Given the description of an element on the screen output the (x, y) to click on. 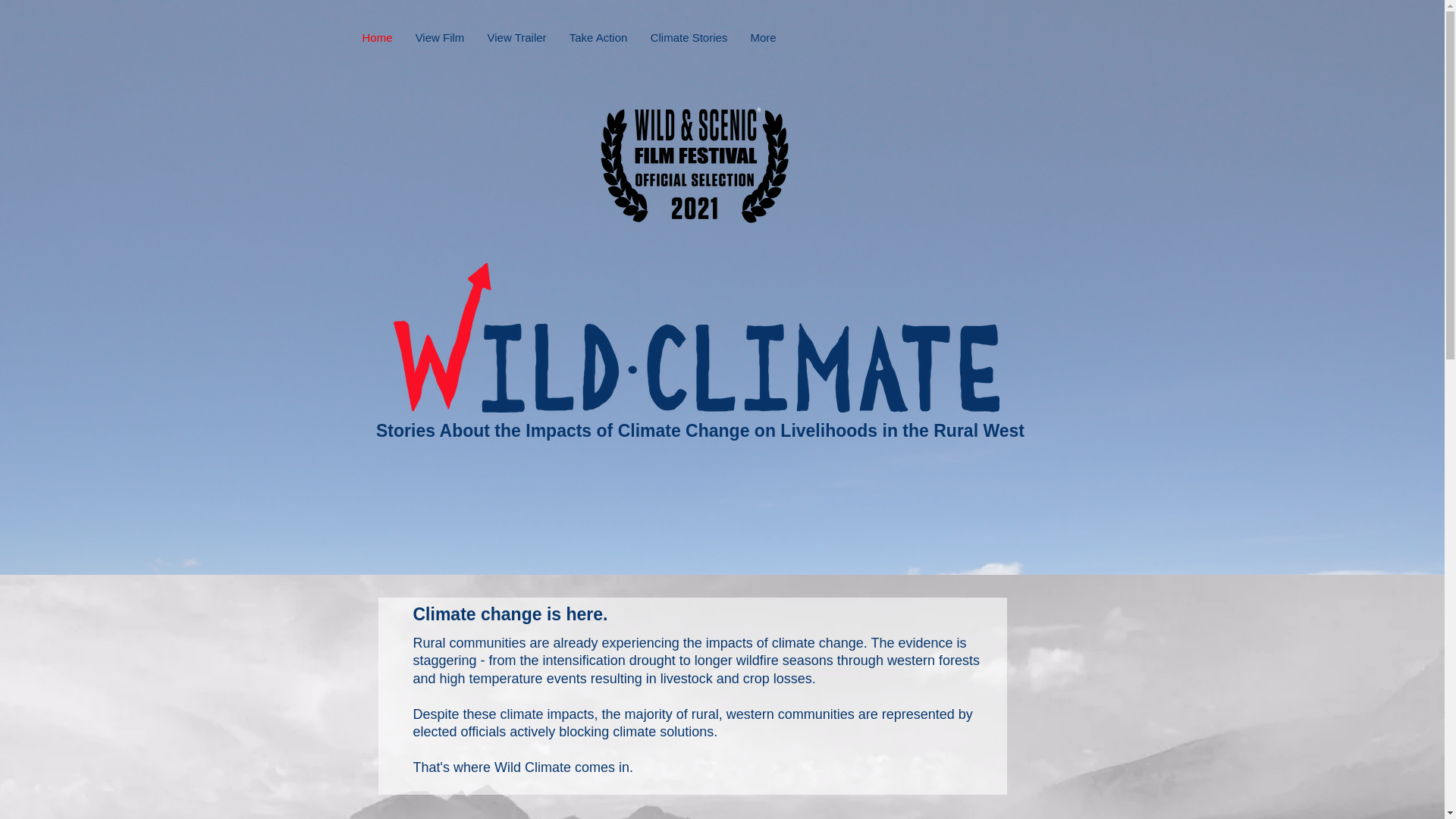
longer wildfire seasons (763, 660)
intensification (584, 660)
View Film (439, 37)
View Trailer (516, 37)
Climate Stories (688, 37)
Take Action (598, 37)
Home (376, 37)
high temperature events (512, 678)
